Given the description of an element on the screen output the (x, y) to click on. 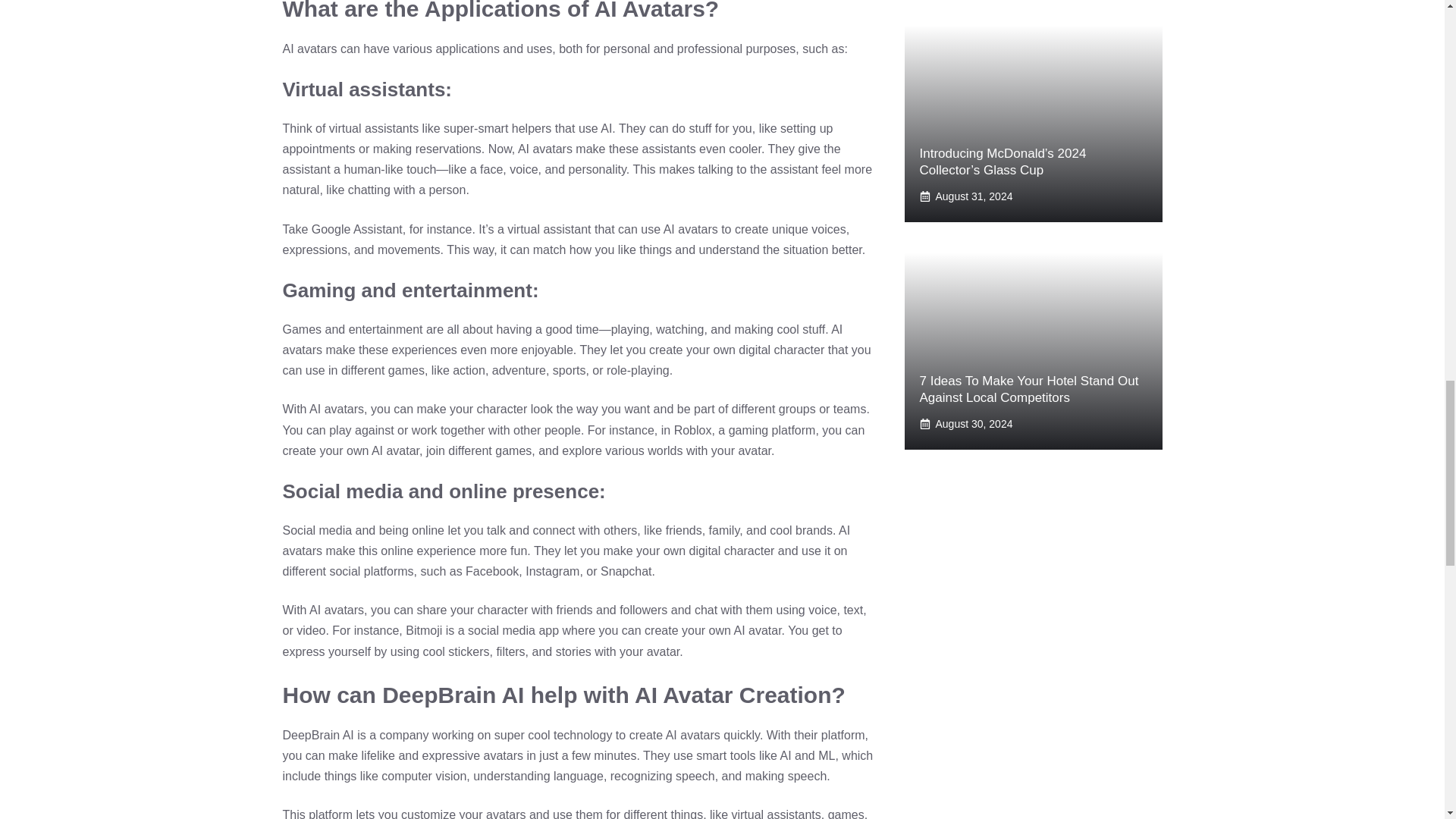
virtual assistants (374, 128)
DeepBrain AI (317, 735)
